Given the description of an element on the screen output the (x, y) to click on. 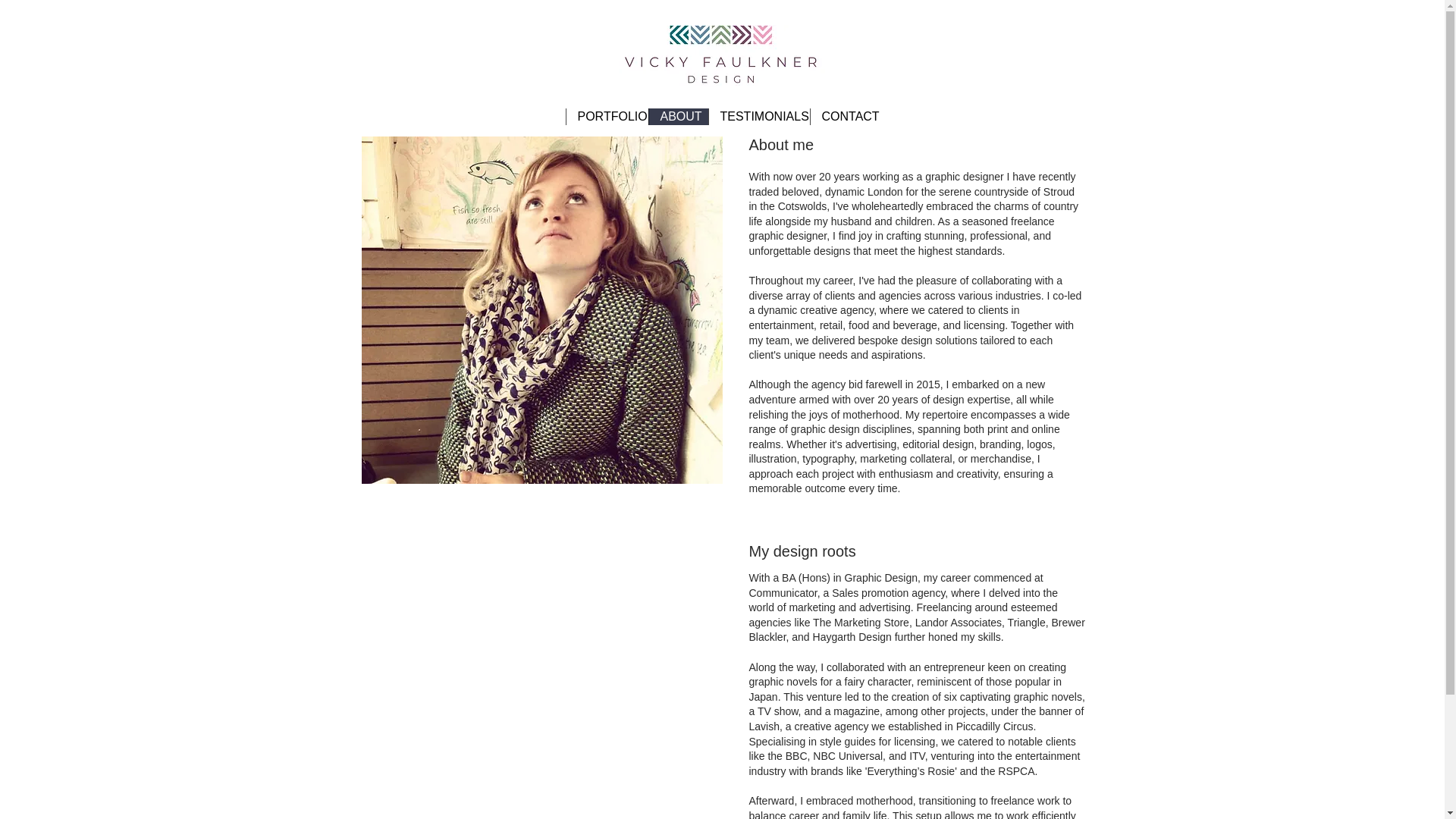
TESTIMONIALS (758, 116)
PORTFOLIO (606, 116)
ABOUT (677, 116)
CONTACT (844, 116)
